Given the description of an element on the screen output the (x, y) to click on. 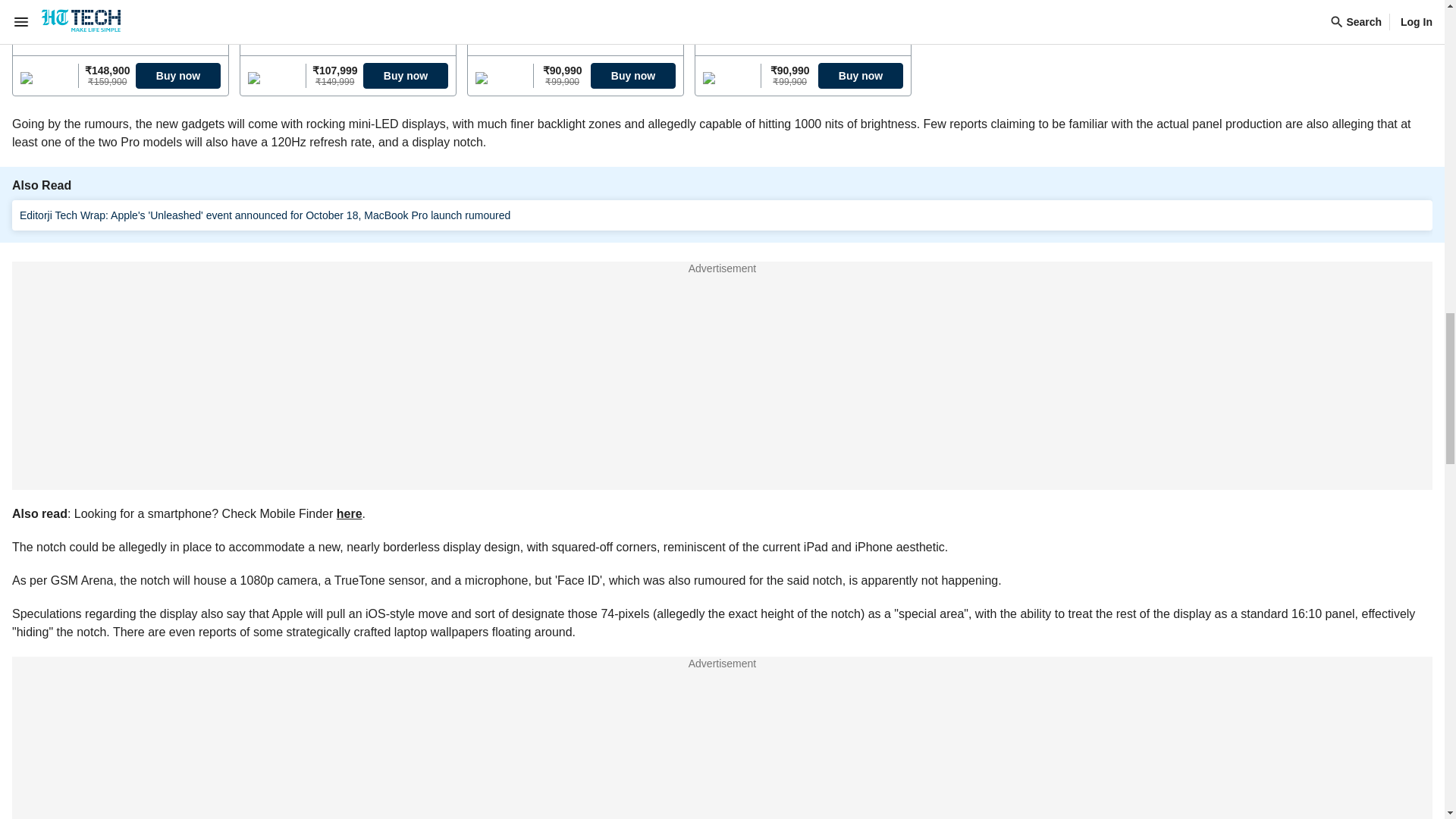
Mobile News (722, 631)
Mobile Reviews (722, 673)
Mobile Recommender (722, 756)
Mobile Finder (722, 715)
Get to Know more about from India and around the world. (722, 798)
Get to Know more about from India and around the world. (722, 715)
Get to Know more about from India and around the world. (722, 756)
Mobile Compare (722, 798)
